Given the description of an element on the screen output the (x, y) to click on. 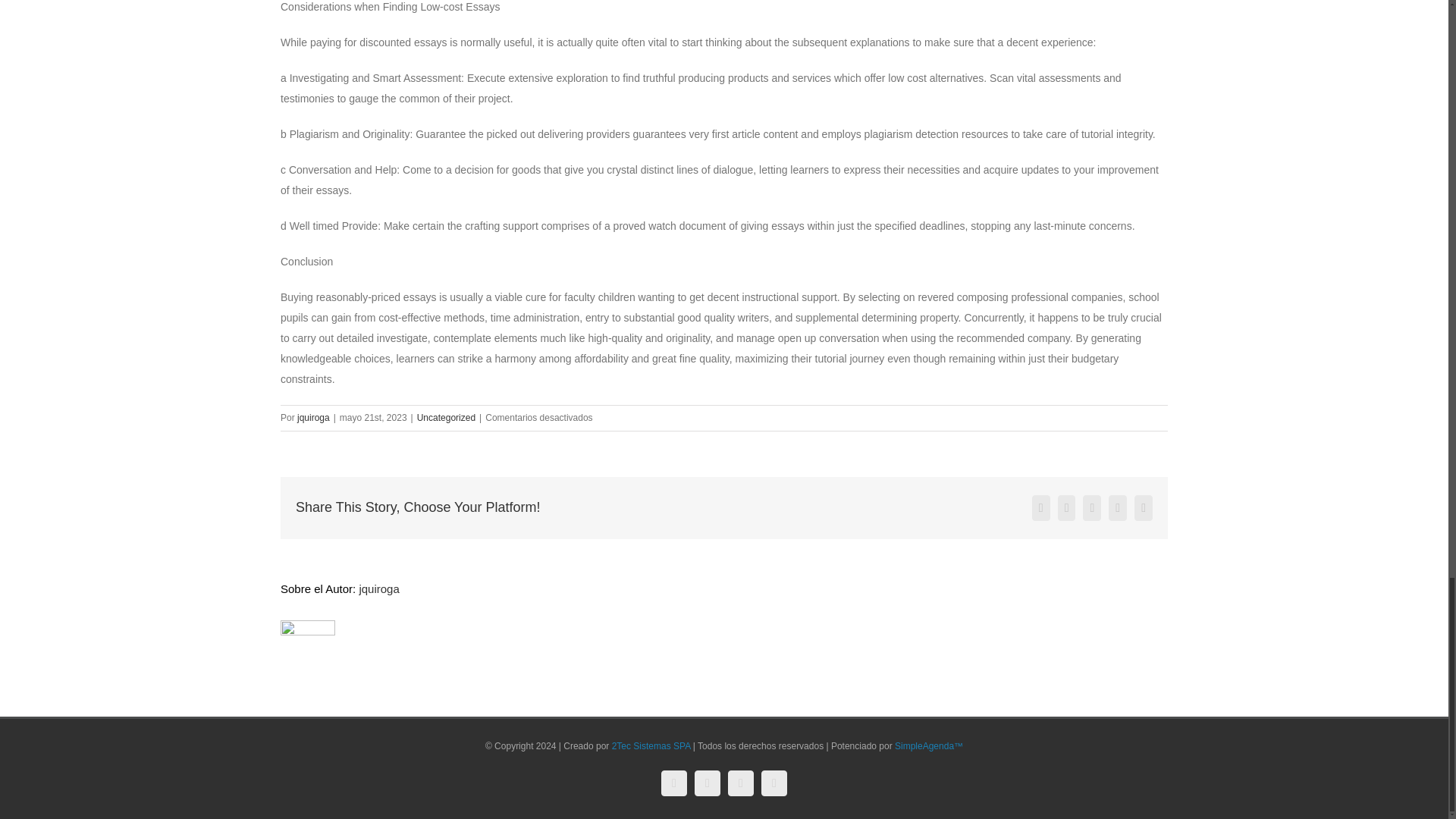
Uncategorized (446, 417)
jquiroga (313, 417)
Entradas de jquiroga (313, 417)
Entradas de jquiroga (378, 588)
